Given the description of an element on the screen output the (x, y) to click on. 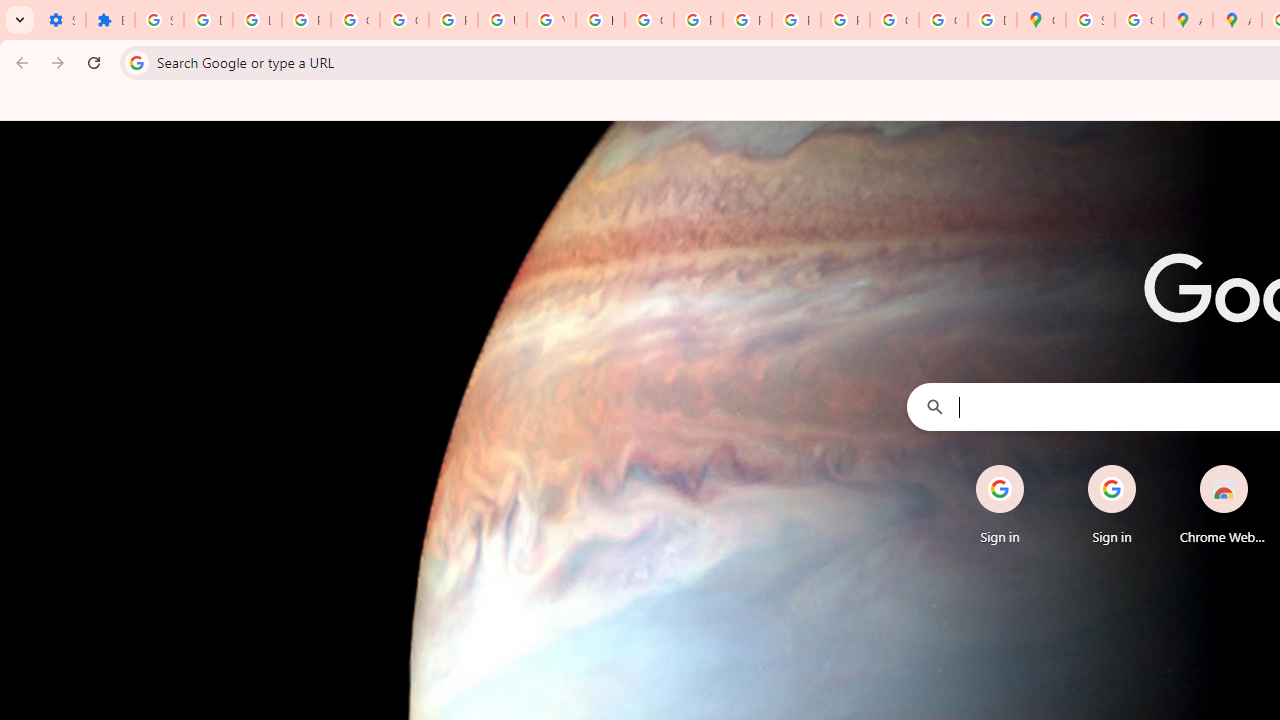
Remove (1263, 466)
Google Maps (1041, 20)
https://scholar.google.com/ (600, 20)
Sign in - Google Accounts (159, 20)
Sign in - Google Accounts (1090, 20)
YouTube (551, 20)
Chrome Web Store (1223, 504)
Privacy Help Center - Policies Help (698, 20)
